Given the description of an element on the screen output the (x, y) to click on. 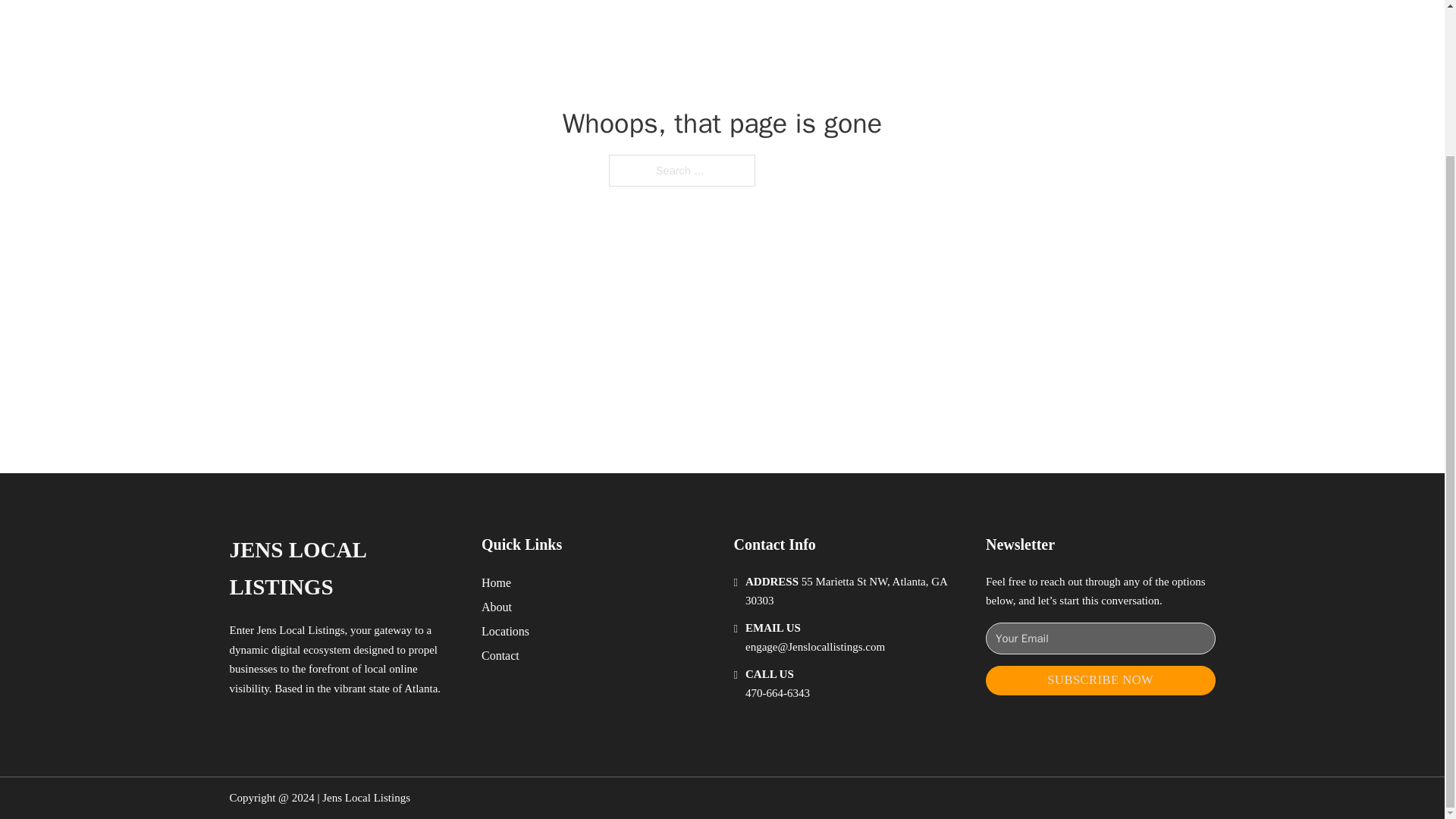
Contact (500, 655)
470-664-6343 (777, 693)
JENS LOCAL LISTINGS (343, 568)
Home (496, 582)
SUBSCRIBE NOW (1100, 680)
Locations (505, 630)
About (496, 607)
